Given the description of an element on the screen output the (x, y) to click on. 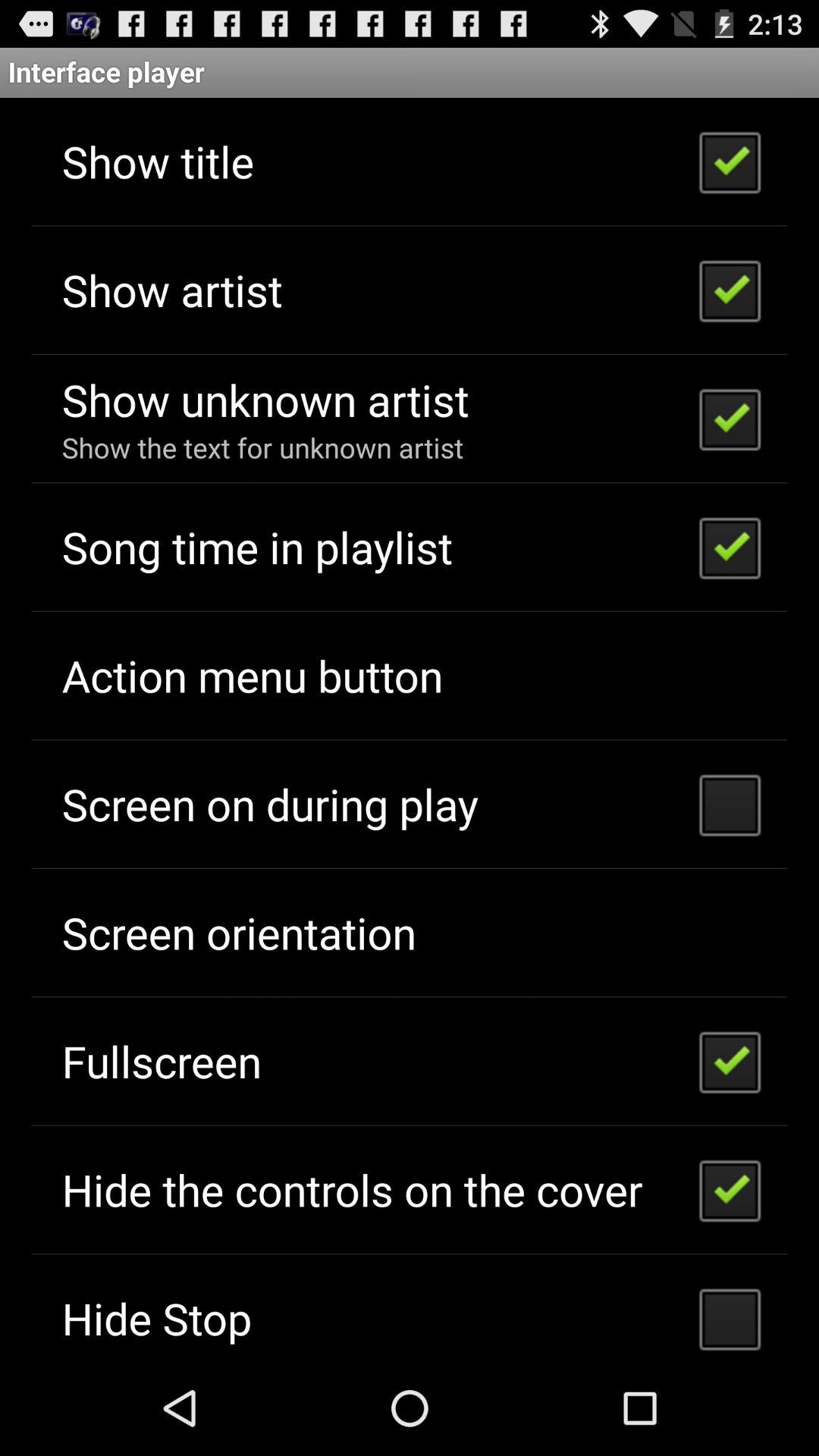
turn on the app below screen on during app (238, 932)
